Given the description of an element on the screen output the (x, y) to click on. 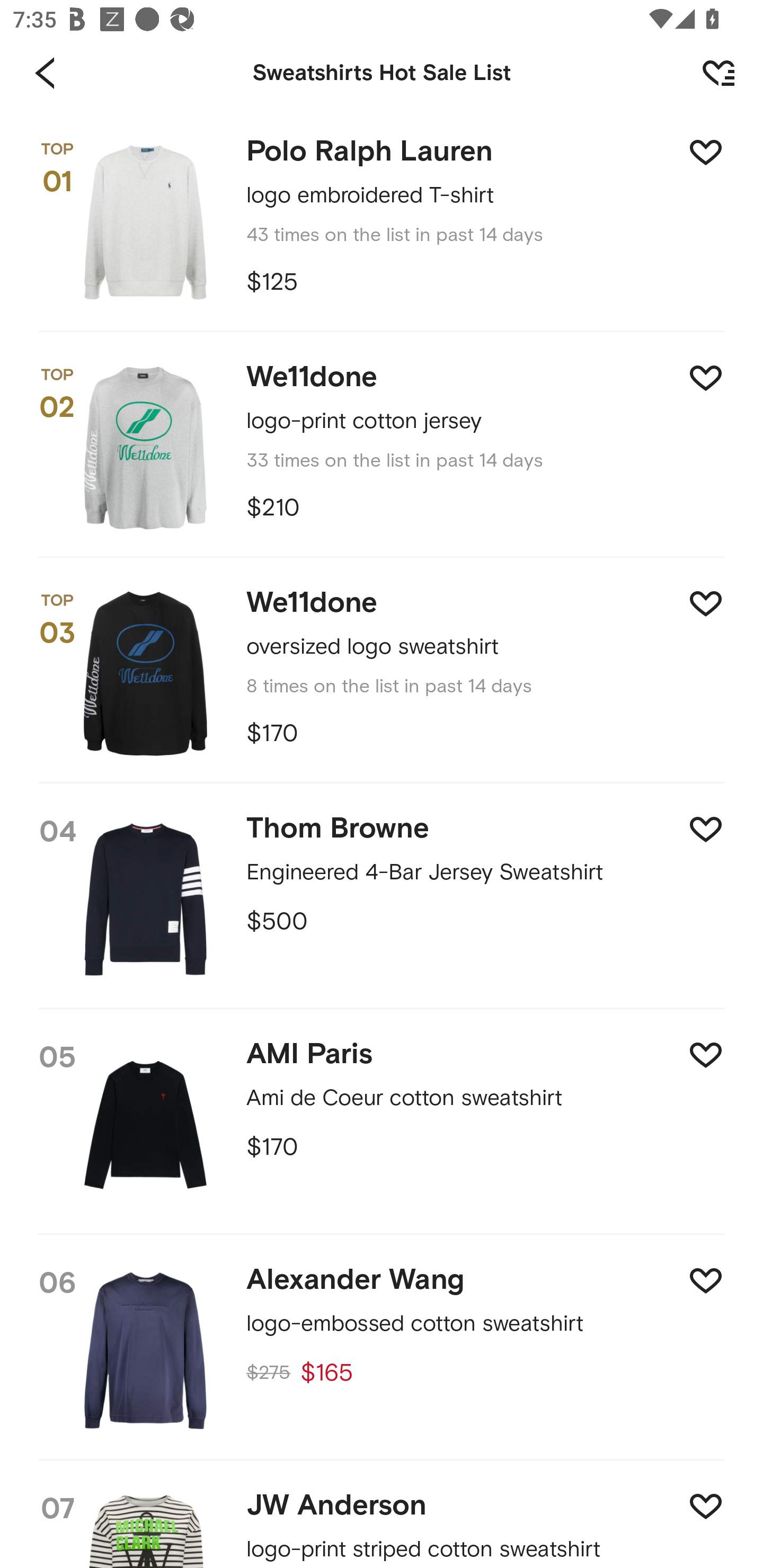
05 AMI Paris Ami de Coeur cotton sweatshirt  $170 (381, 1123)
